Given the description of an element on the screen output the (x, y) to click on. 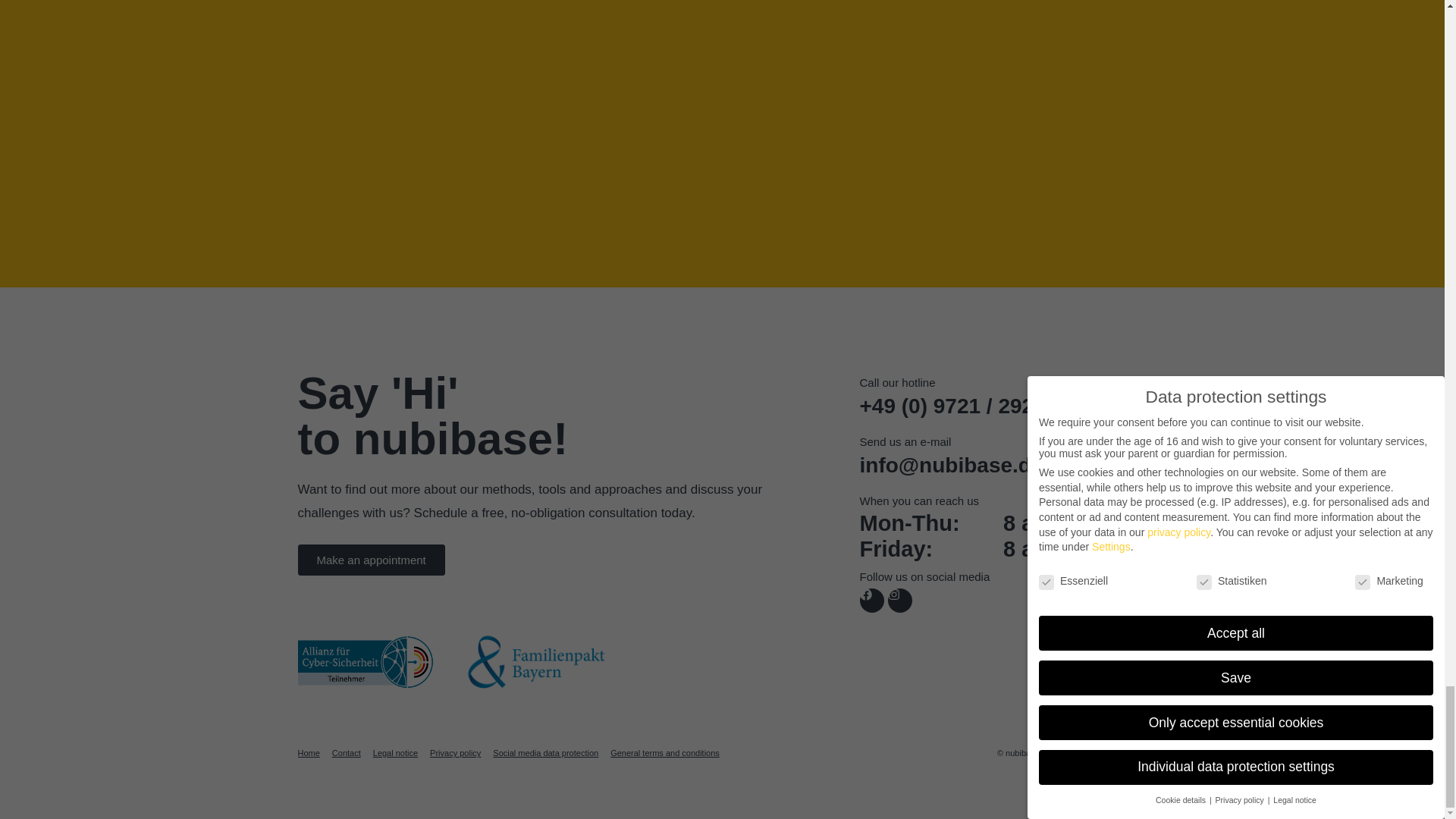
Contact (346, 753)
General terms and conditions (664, 753)
Make an appointment (370, 559)
Privacy policy (454, 753)
Send us an e-mail (906, 440)
Legal notice (394, 753)
Home (307, 753)
made by hatchbox (1112, 753)
Social media data protection (545, 753)
